Given the description of an element on the screen output the (x, y) to click on. 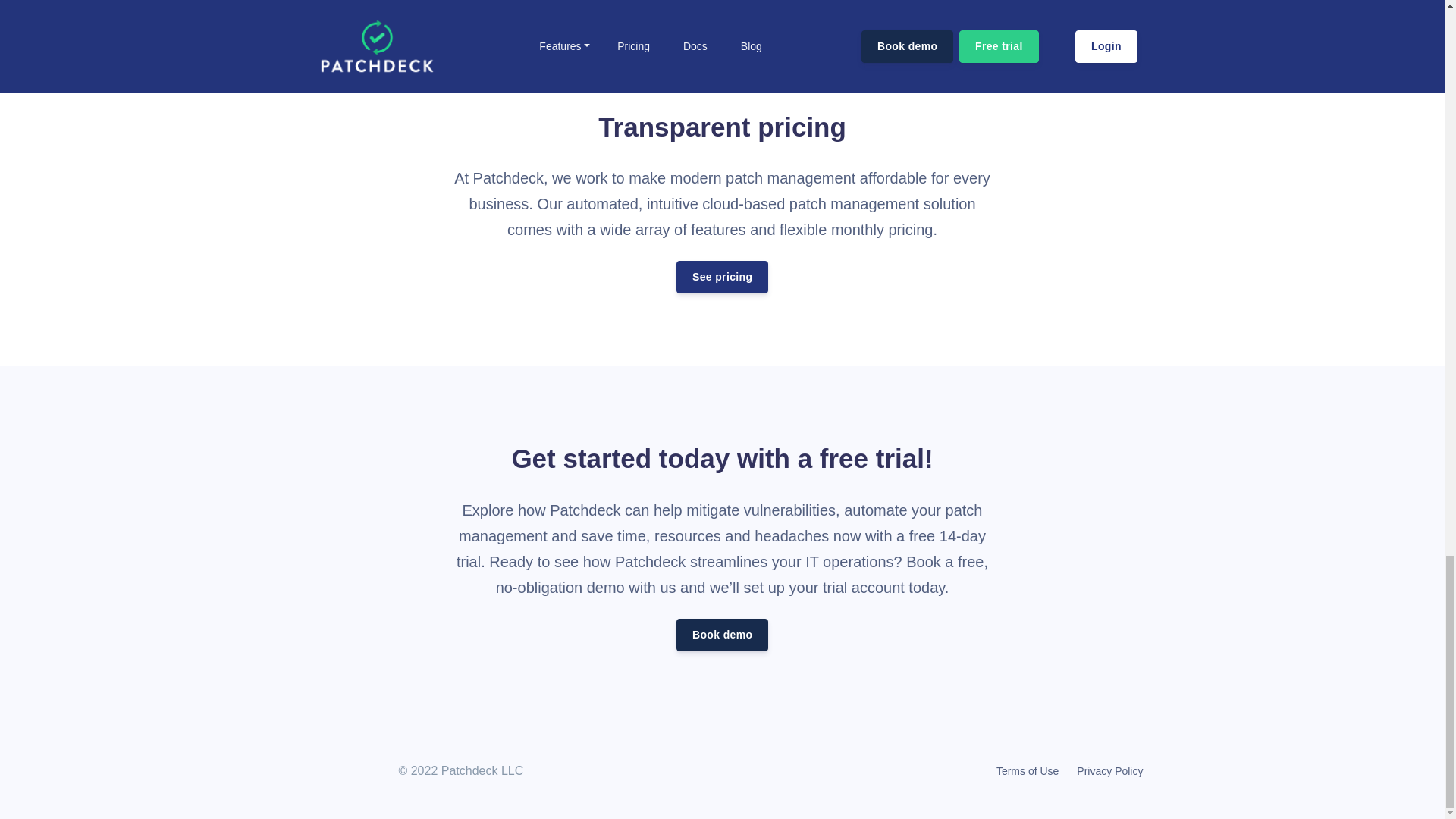
Terms of Use (1027, 771)
See pricing (722, 277)
Book demo (722, 635)
Privacy Policy (1104, 771)
